Given the description of an element on the screen output the (x, y) to click on. 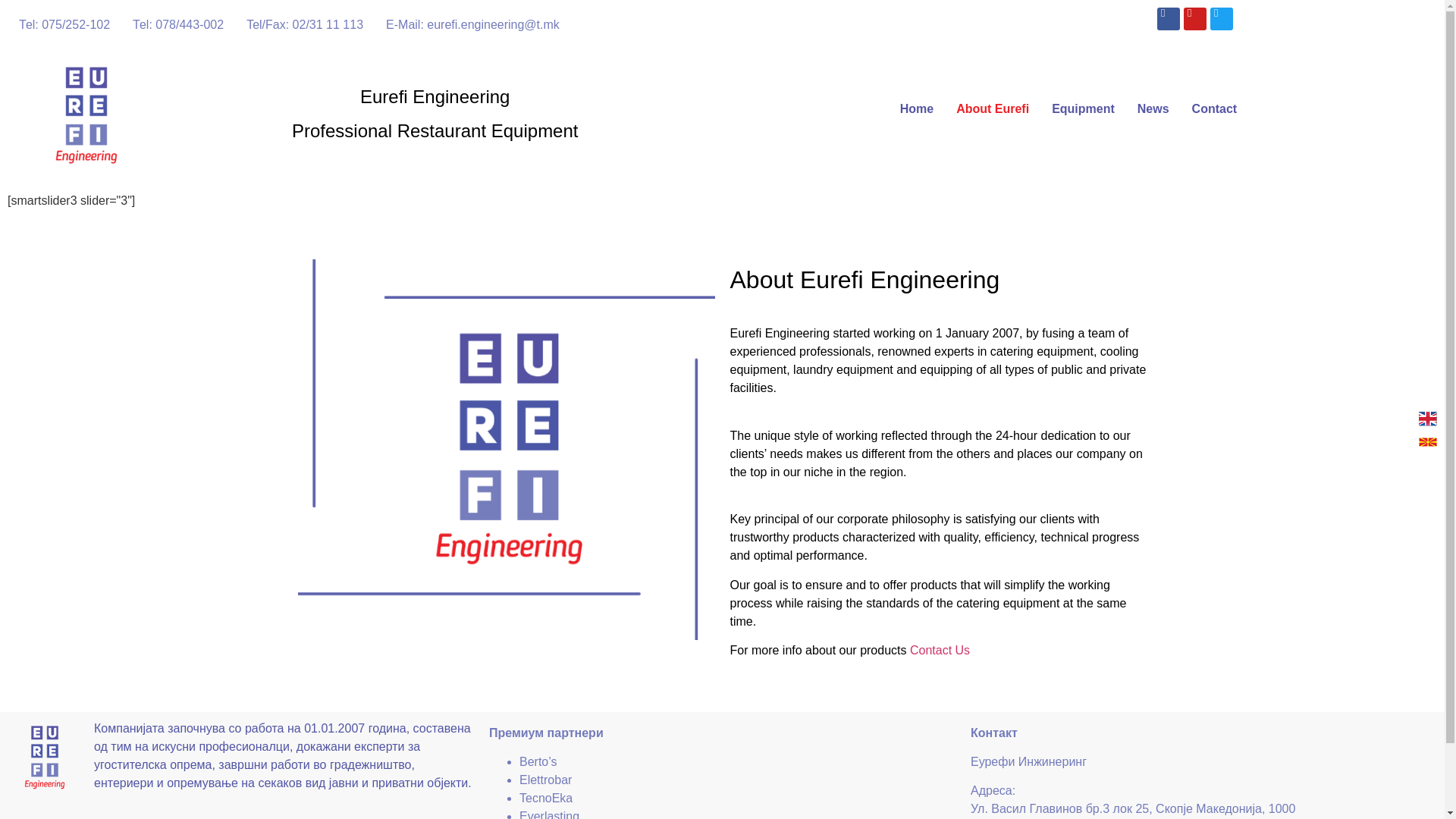
News (1152, 108)
Contact Us (939, 649)
Equipment (1083, 108)
English  (1427, 418)
Home (916, 108)
About Eurefi (992, 108)
Contact (1214, 108)
Republic of Macedonia (1427, 442)
